Given the description of an element on the screen output the (x, y) to click on. 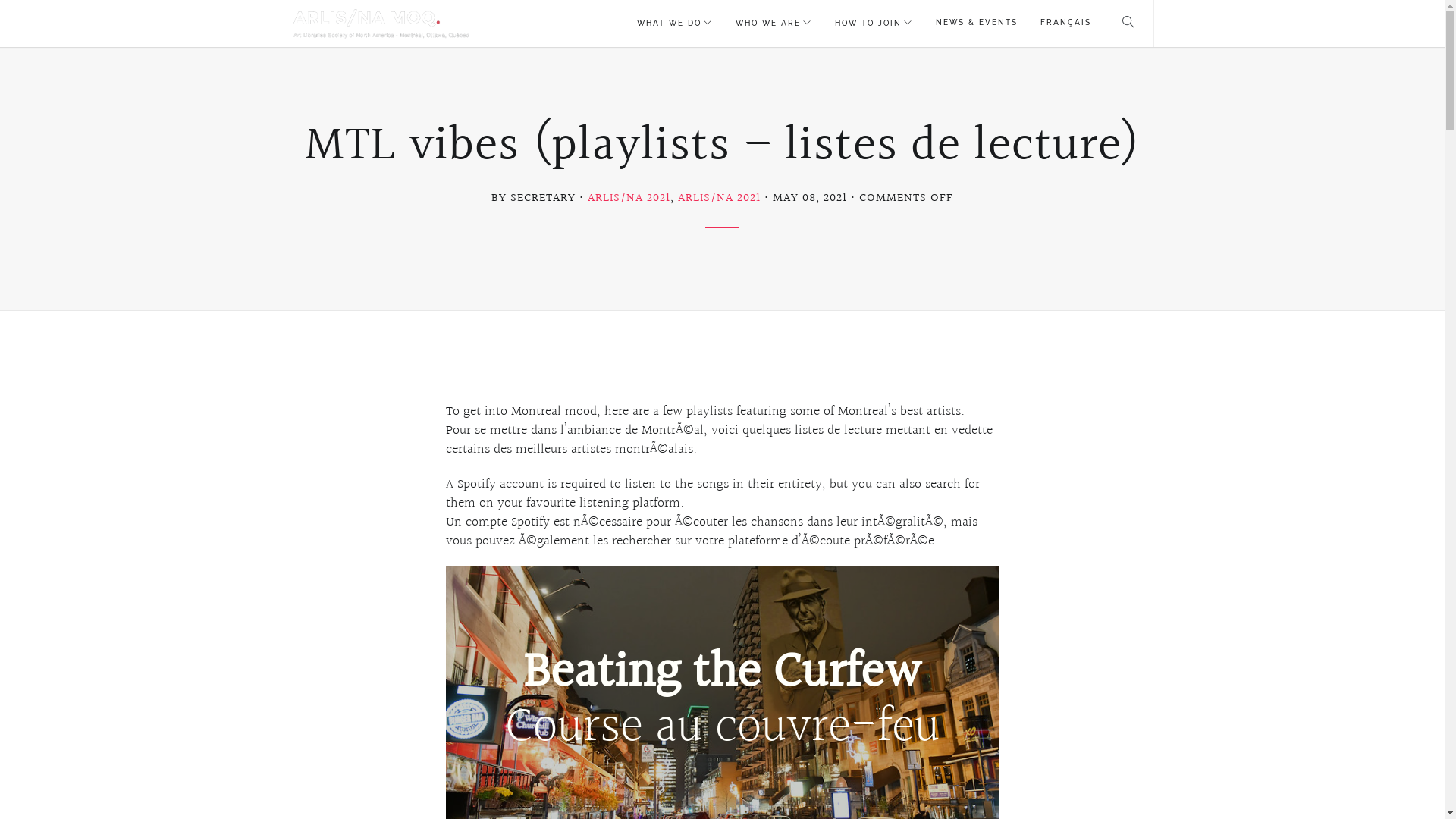
WHAT WE DO Element type: text (673, 23)
ARLIS/NA 2021 Element type: text (718, 197)
NEWS & EVENTS Element type: text (975, 23)
HOW TO JOIN Element type: text (873, 23)
ARLIS/NA 2021 Element type: text (628, 197)
WHO WE ARE Element type: text (772, 23)
